Given the description of an element on the screen output the (x, y) to click on. 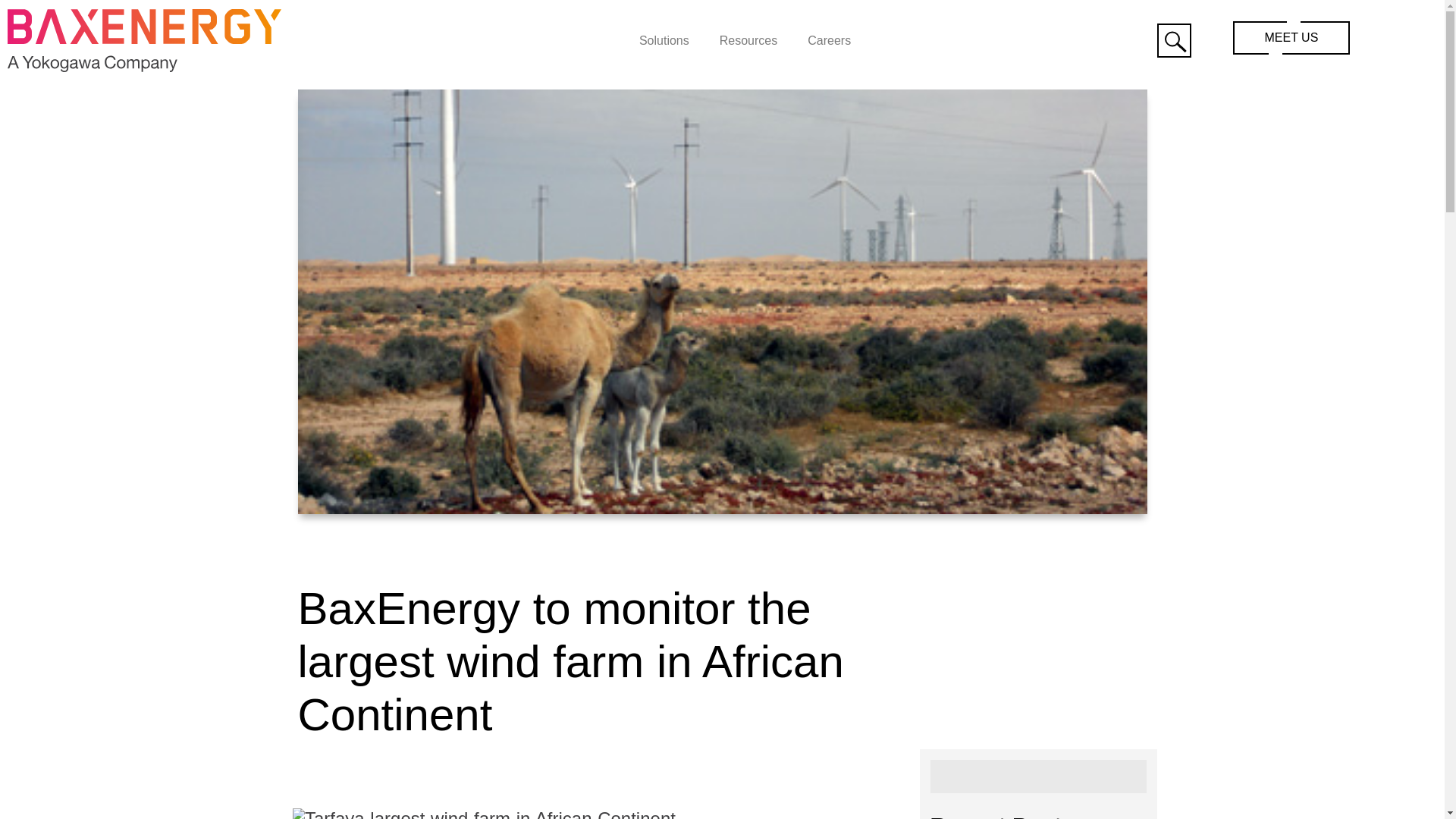
Search (1174, 40)
Resources (748, 39)
Solutions (664, 39)
Careers (829, 39)
Search (1038, 776)
MEET US (1292, 37)
